Given the description of an element on the screen output the (x, y) to click on. 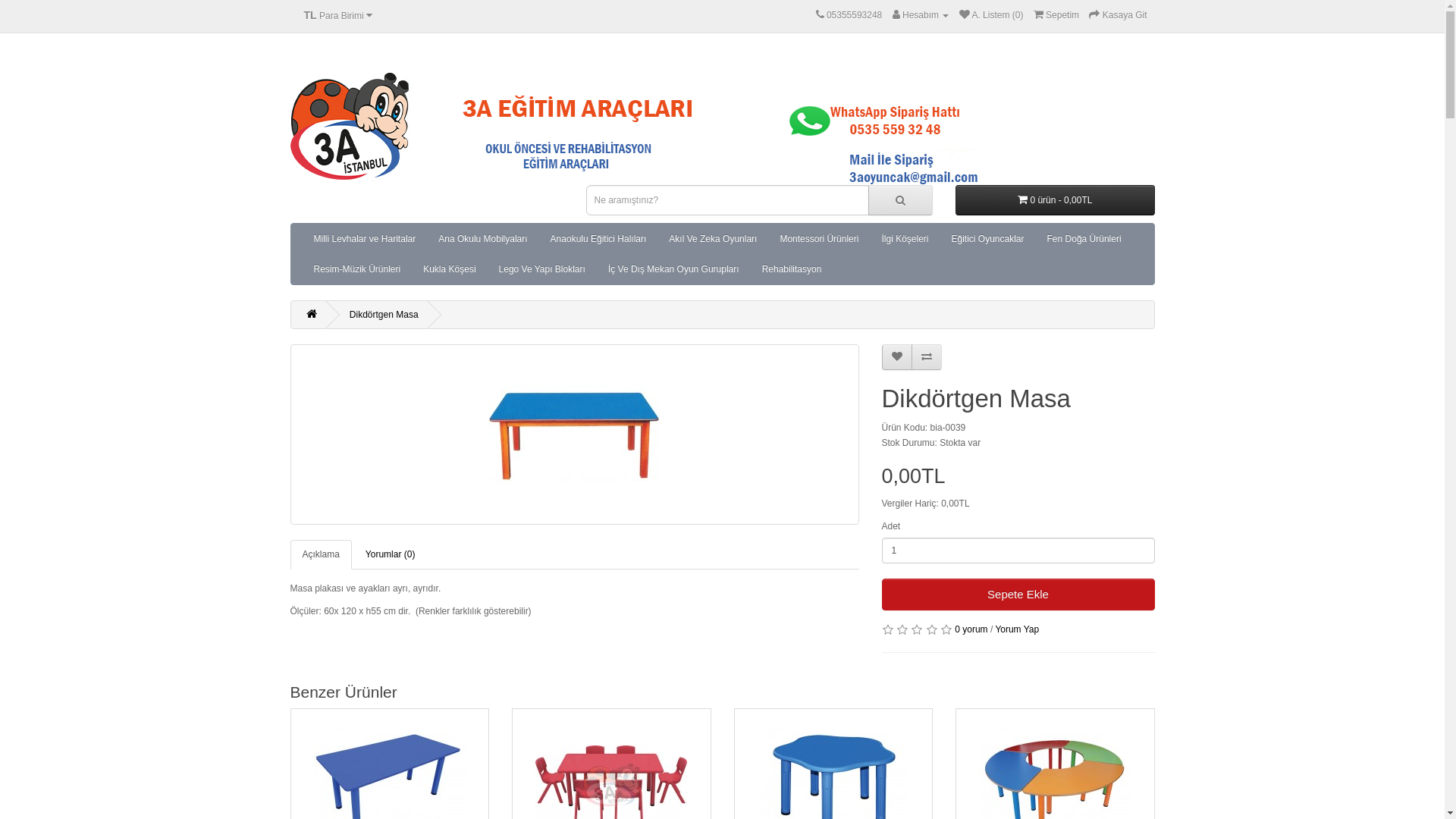
Sepetim Element type: text (1056, 14)
Yorumlar (0) Element type: text (390, 554)
Rehabilitasyon Element type: text (791, 269)
A. Listem (0) Element type: text (991, 14)
Sepete Ekle Element type: text (1017, 594)
Milli Levhalar ve Haritalar Element type: text (363, 238)
Kasaya Git Element type: text (1117, 14)
TL Para Birimi  Element type: text (338, 15)
Yorum Yap Element type: text (1016, 629)
0 yorum Element type: text (970, 629)
